Given the description of an element on the screen output the (x, y) to click on. 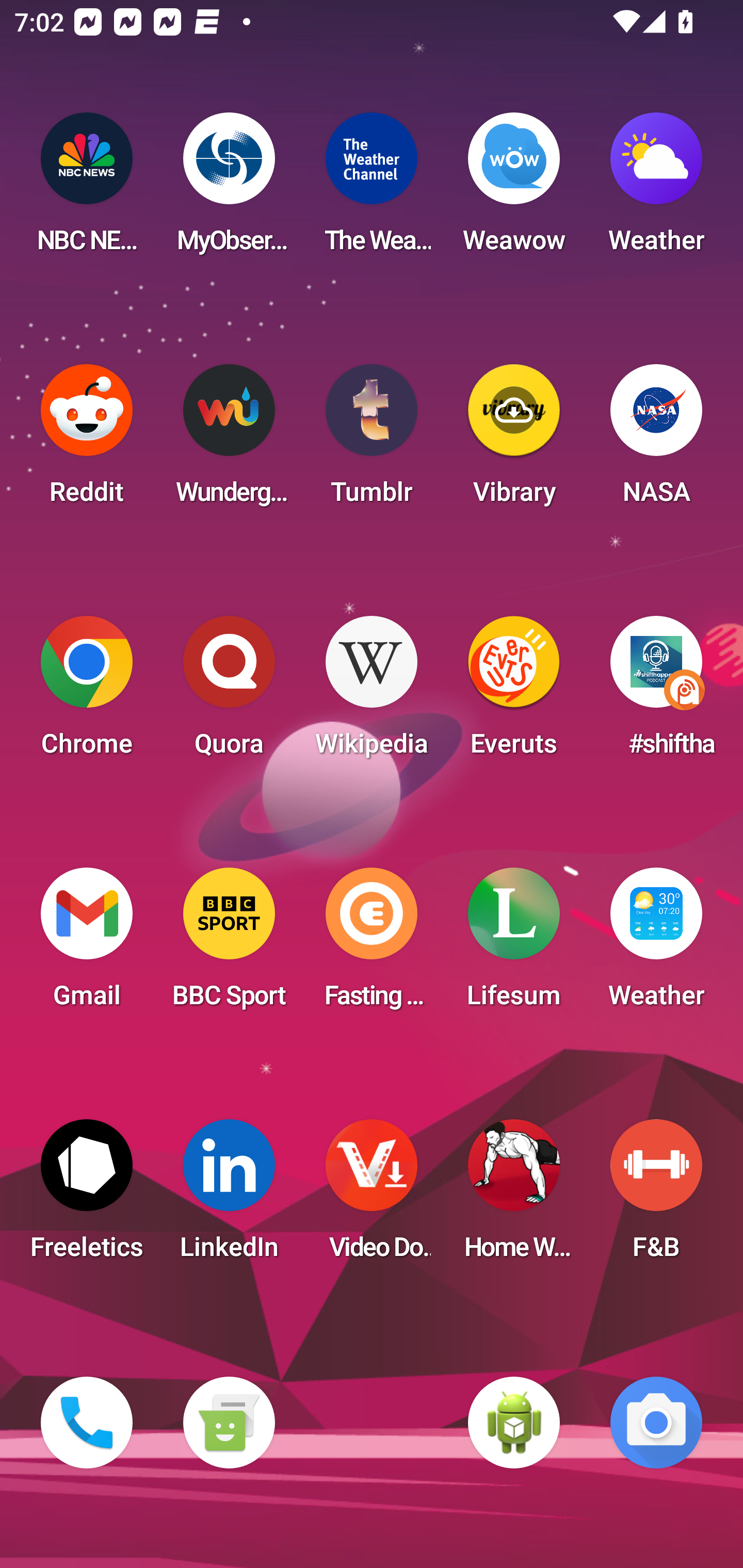
NBC NEWS (86, 188)
MyObservatory (228, 188)
The Weather Channel (371, 188)
Weawow (513, 188)
Weather (656, 188)
Reddit (86, 440)
Wunderground (228, 440)
Tumblr (371, 440)
Vibrary (513, 440)
NASA (656, 440)
Chrome (86, 692)
Quora (228, 692)
Wikipedia (371, 692)
Everuts (513, 692)
#shifthappens in the Digital Workplace Podcast (656, 692)
Gmail (86, 943)
BBC Sport (228, 943)
Fasting Coach (371, 943)
Lifesum (513, 943)
Weather (656, 943)
Freeletics (86, 1195)
LinkedIn (228, 1195)
Video Downloader & Ace Player (371, 1195)
Home Workout (513, 1195)
F&B (656, 1195)
Phone (86, 1422)
Messaging (228, 1422)
WebView Browser Tester (513, 1422)
Camera (656, 1422)
